Given the description of an element on the screen output the (x, y) to click on. 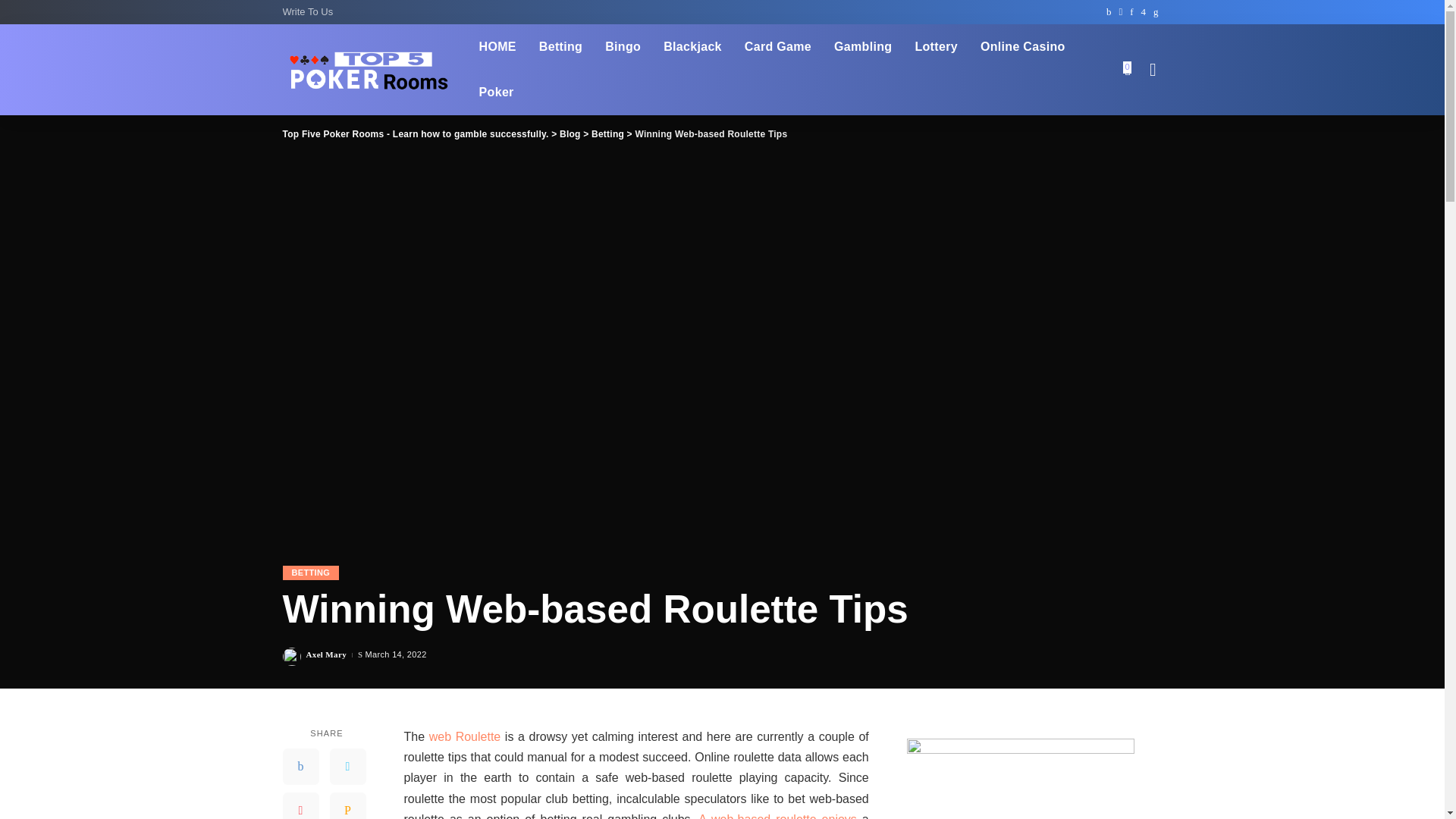
HOME (497, 46)
Bingo (623, 46)
Gambling (862, 46)
Top Five Poker Rooms - Learn how to gamble successfully. (368, 69)
Betting (560, 46)
Card Game (777, 46)
Lottery (935, 46)
Blackjack (692, 46)
Write To Us (309, 11)
